Given the description of an element on the screen output the (x, y) to click on. 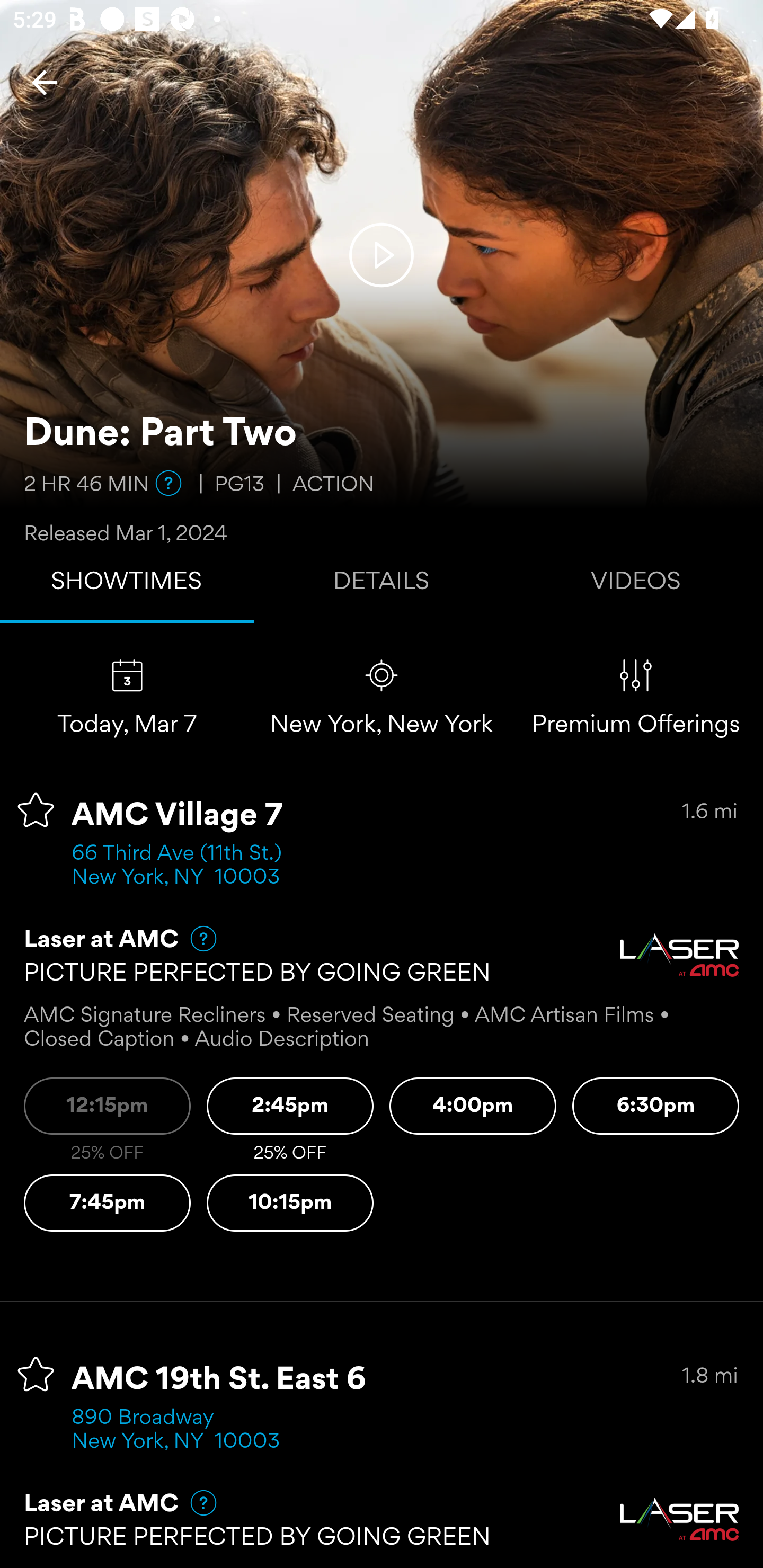
Back (44, 82)
Play (381, 254)
Help (168, 482)
SHOWTIMES
Tab 1 of 3 (127, 584)
DETAILS
Tab 2 of 3 (381, 584)
VIDEOS
Tab 3 of 3 (635, 584)
Change selected day
Today, Mar 7 (127, 697)
Change location
New York, New York (381, 697)
Premium Offerings
Premium Offerings (635, 697)
AMC Village 7 (177, 816)
66 Third Ave (11th St.)  
New York, NY  10003 (182, 866)
Help (195, 938)
AMC Village 7 Laser at AMC 2:45pm Showtime Button (289, 1105)
AMC Village 7 Laser at AMC 4:00pm Showtime Button (472, 1105)
AMC Village 7 Laser at AMC 6:30pm Showtime Button (655, 1105)
AMC Village 7 Laser at AMC 7:45pm Showtime Button (106, 1203)
AMC Village 7 Laser at AMC 10:15pm Showtime Button (289, 1203)
AMC 19th St. East 6 (219, 1380)
890 Broadway  
New York, NY  10003 (176, 1429)
Help (195, 1502)
